Given the description of an element on the screen output the (x, y) to click on. 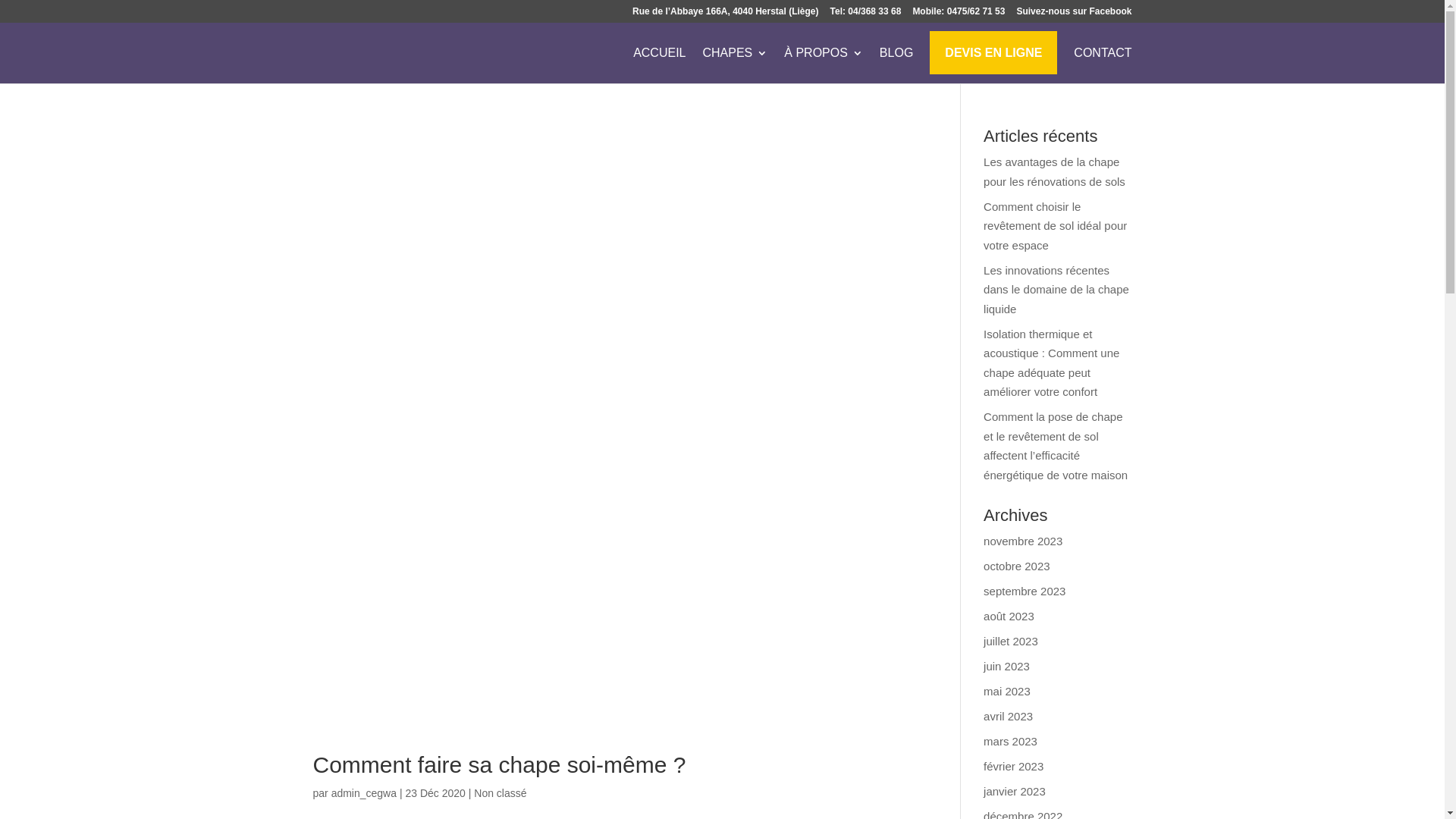
septembre 2023 Element type: text (1024, 590)
octobre 2023 Element type: text (1016, 565)
mars 2023 Element type: text (1010, 740)
Suivez-nous sur Facebook Element type: text (1073, 14)
Mobile: 0475/62 71 53 Element type: text (958, 14)
admin_cegwa Element type: text (363, 793)
ACCUEIL Element type: text (659, 65)
mai 2023 Element type: text (1006, 690)
BLOG Element type: text (896, 65)
DEVIS EN LIGNE Element type: text (993, 65)
juin 2023 Element type: text (1006, 665)
CONTACT Element type: text (1102, 65)
CHAPES Element type: text (734, 65)
janvier 2023 Element type: text (1014, 790)
Tel: 04/368 33 68 Element type: text (865, 14)
novembre 2023 Element type: text (1022, 540)
juillet 2023 Element type: text (1010, 640)
avril 2023 Element type: text (1007, 715)
